Given the description of an element on the screen output the (x, y) to click on. 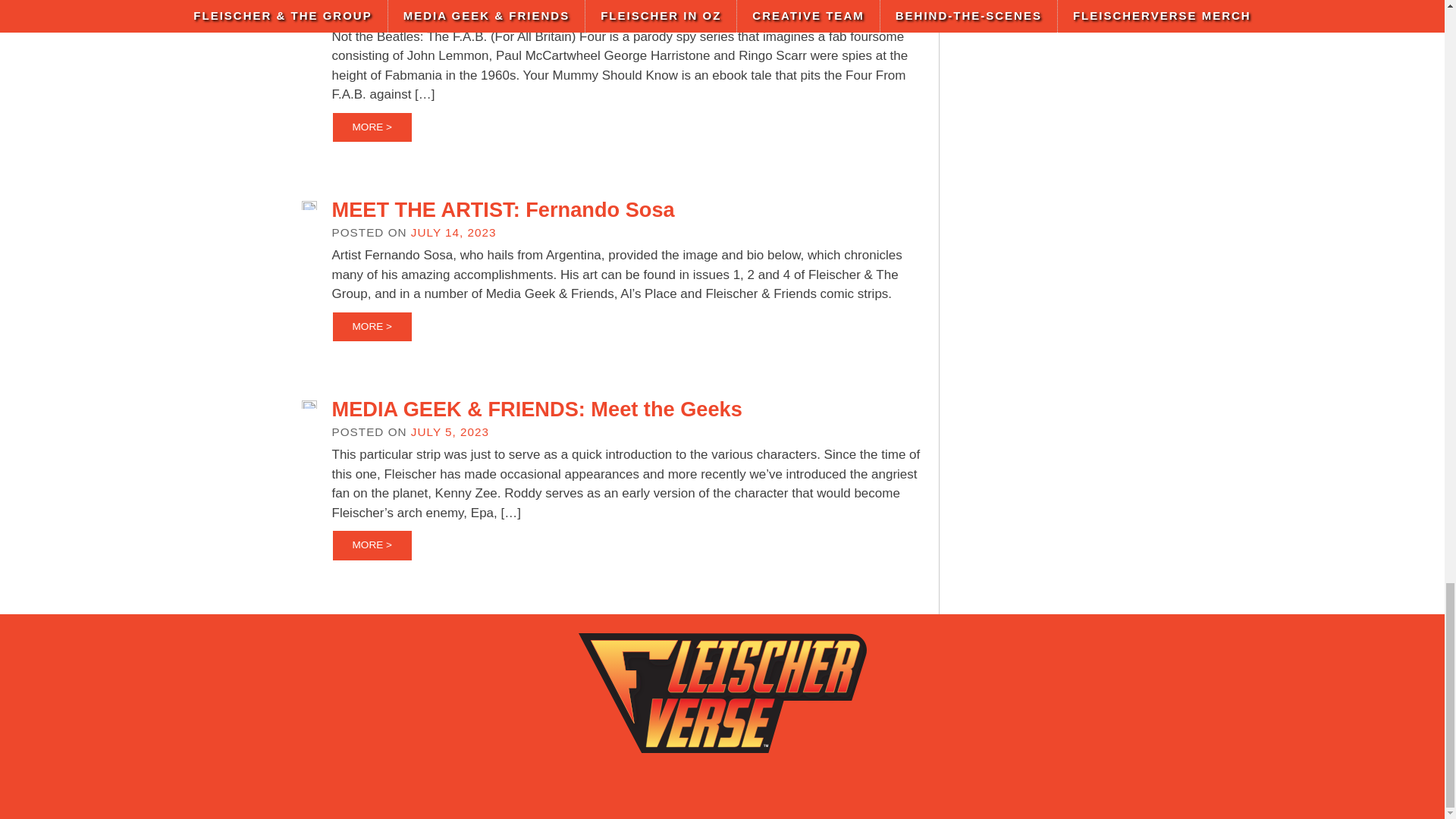
JULY 14, 2023 (453, 232)
MEET THE ARTIST: Fernando Sosa (503, 209)
JULY 19, 2023 (453, 13)
